Given the description of an element on the screen output the (x, y) to click on. 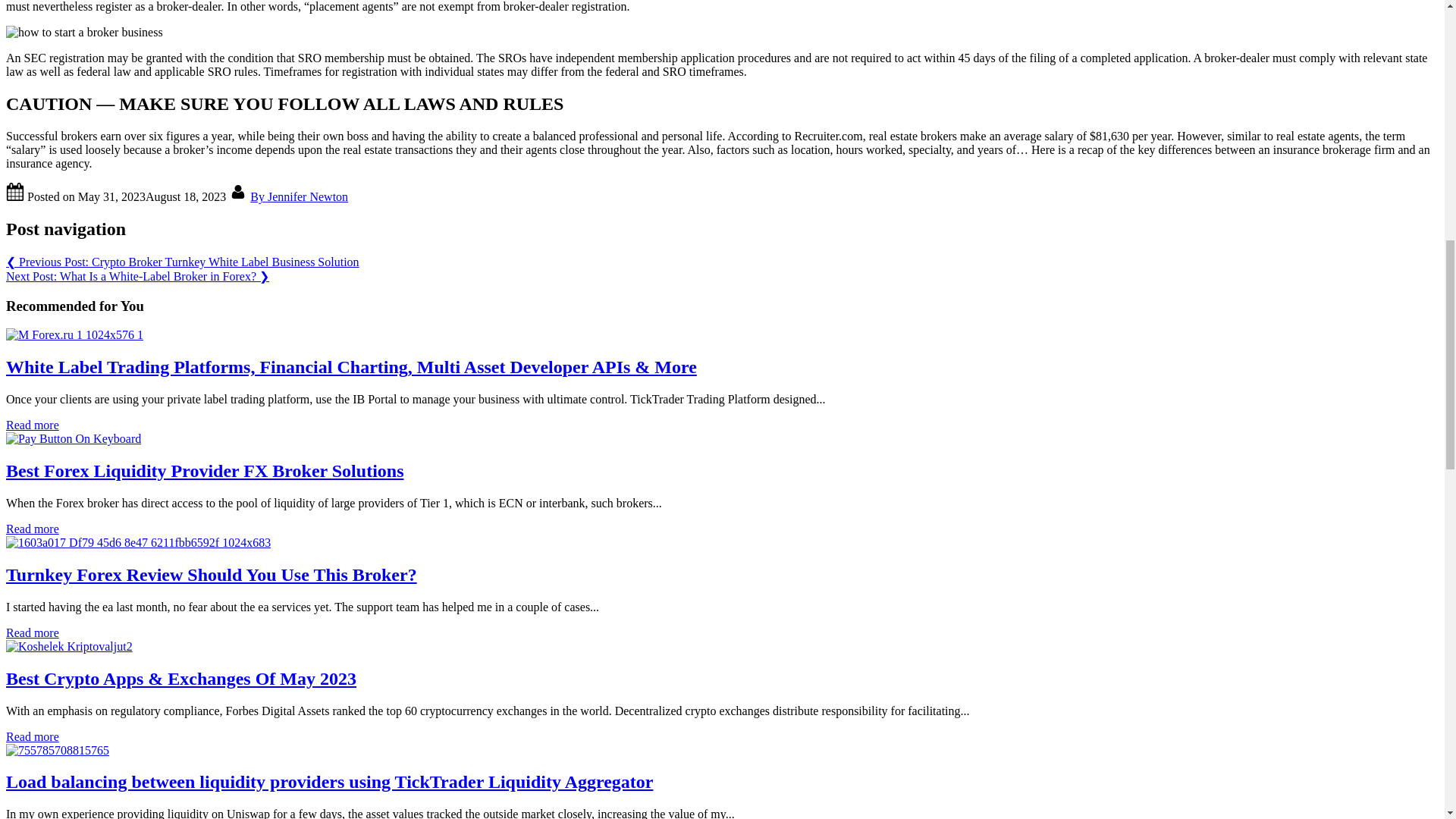
Read more (32, 528)
Turnkey Forex Review Should You Use This Broker? (210, 574)
Read more (32, 632)
Read more (32, 736)
Best Forex Liquidity Provider FX Broker Solutions (204, 470)
Turnkey Forex Review Should You Use This Broker? (137, 542)
Best Forex Liquidity Provider FX Broker Solutions (73, 438)
By Jennifer Newton (298, 196)
